Given the description of an element on the screen output the (x, y) to click on. 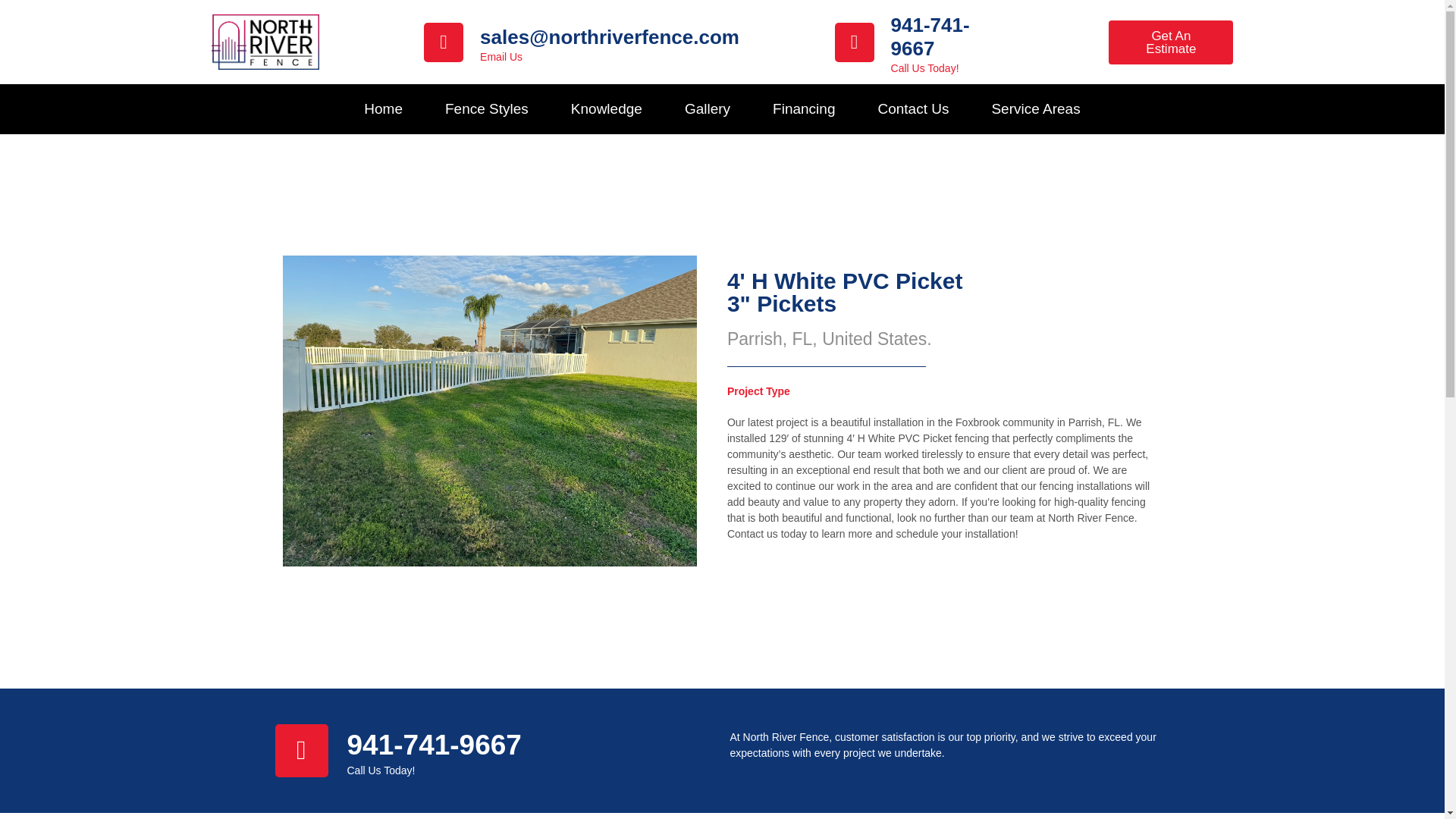
941-741-9667 (930, 36)
Contact Us (912, 108)
Gallery (707, 108)
Get An Estimate (1170, 42)
Fence Styles (486, 108)
Knowledge (606, 108)
Financing (803, 108)
Home (382, 108)
Service Areas (1034, 108)
